Given the description of an element on the screen output the (x, y) to click on. 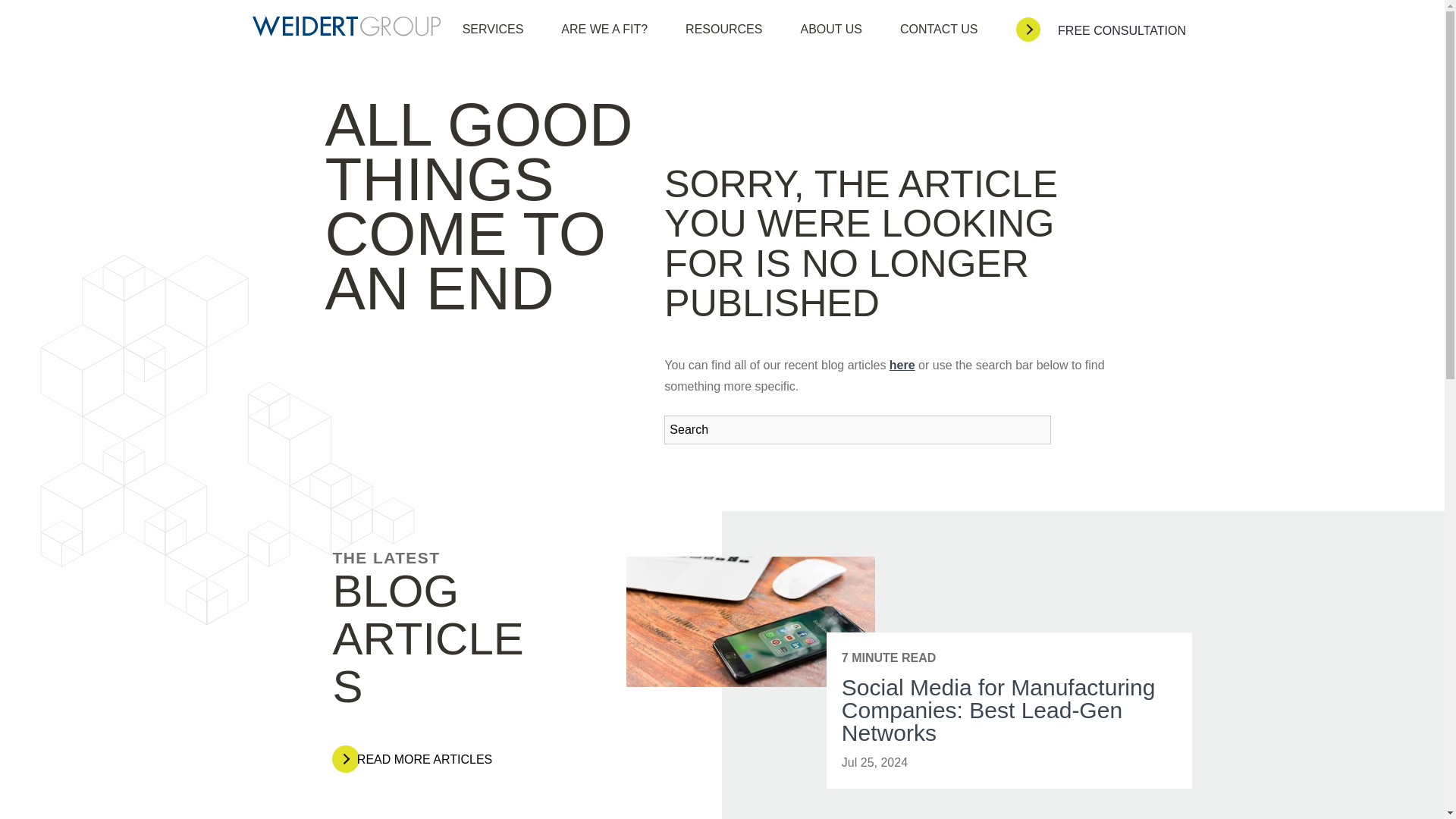
ABOUT US (830, 29)
ARE WE A FIT? (603, 29)
RESOURCES (723, 29)
SERVICES (493, 29)
